Given the description of an element on the screen output the (x, y) to click on. 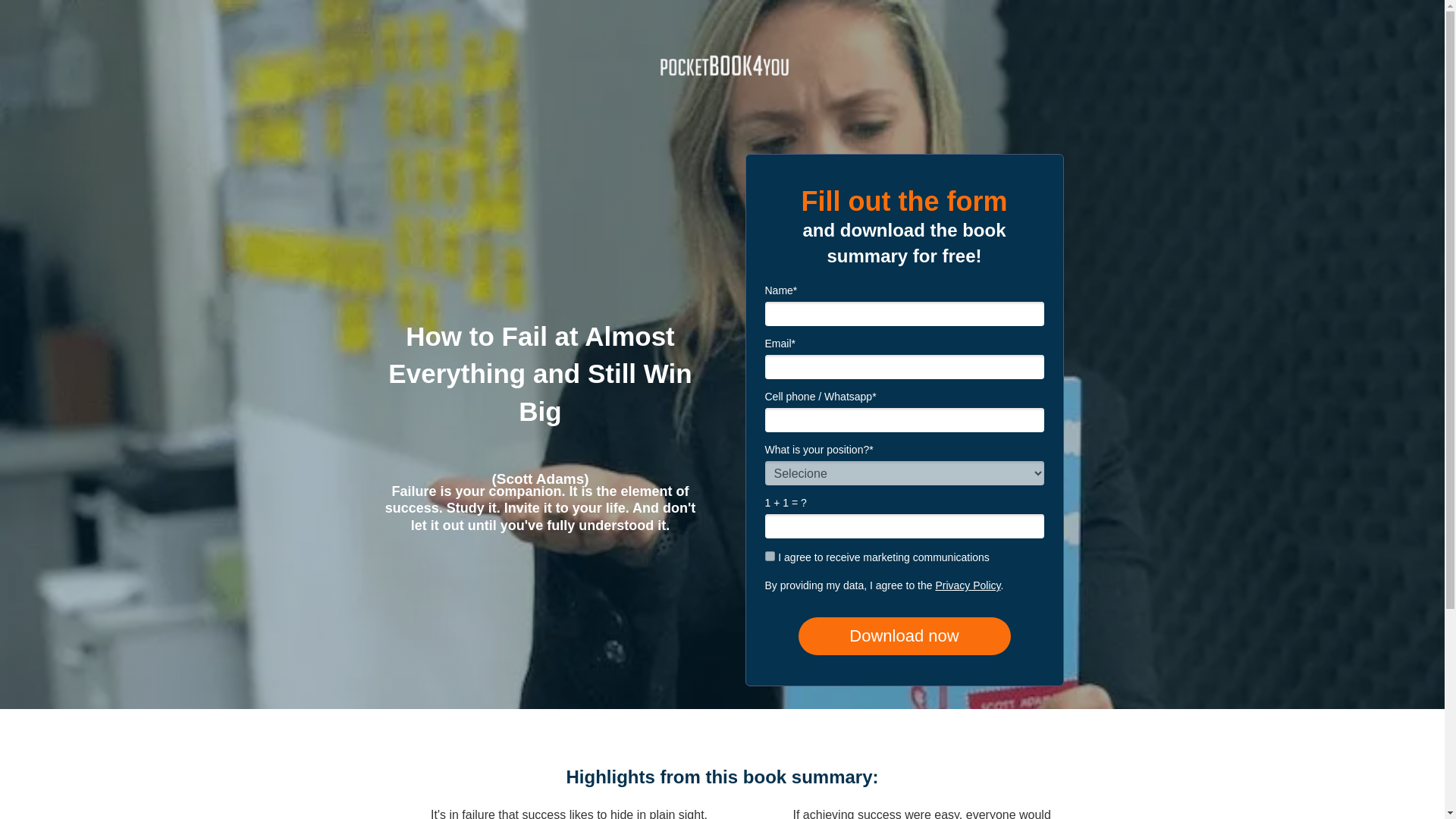
Privacy Policy (967, 585)
1 (769, 556)
Download now (903, 636)
